Given the description of an element on the screen output the (x, y) to click on. 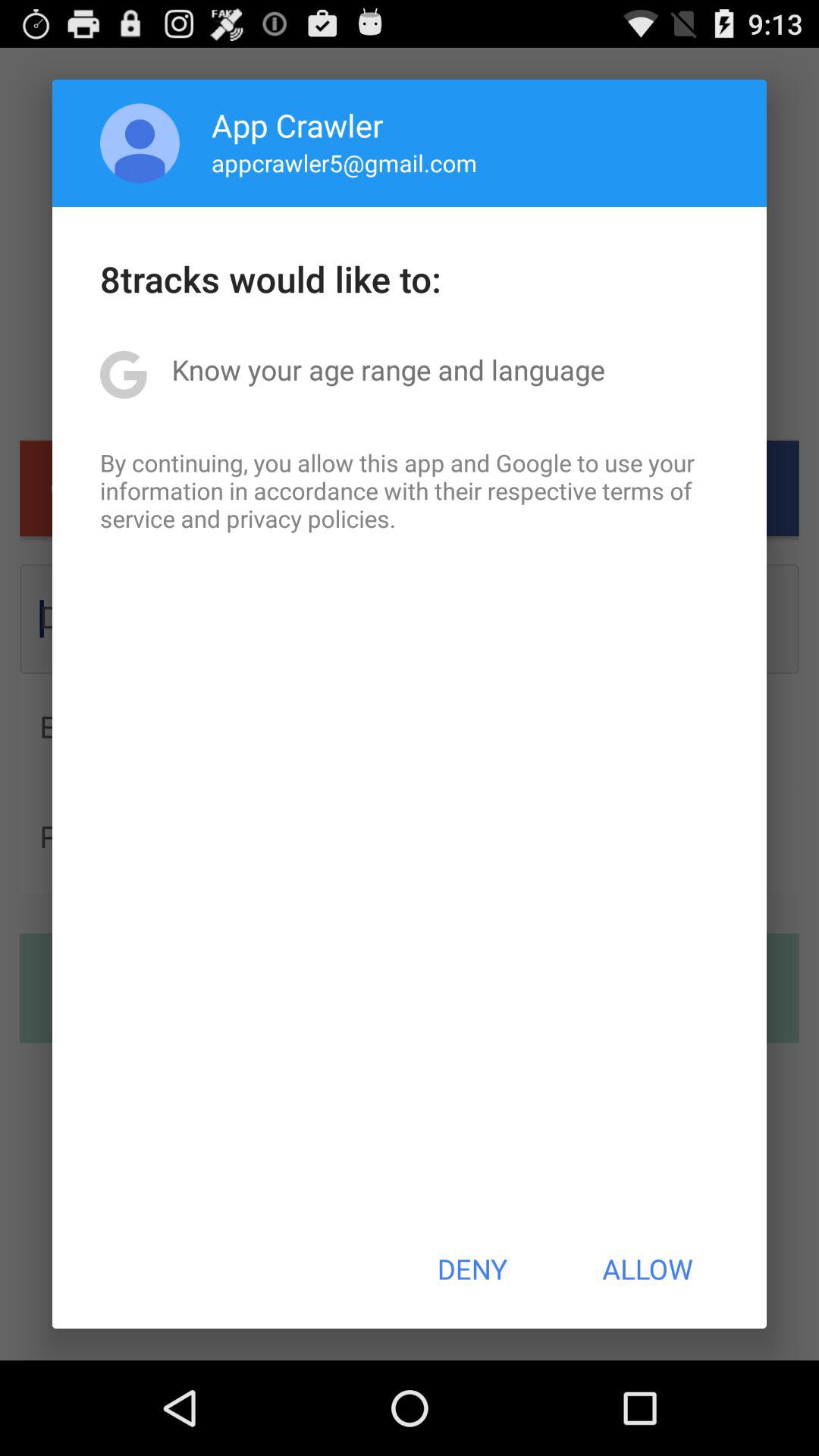
select the app to the left of app crawler (139, 143)
